Given the description of an element on the screen output the (x, y) to click on. 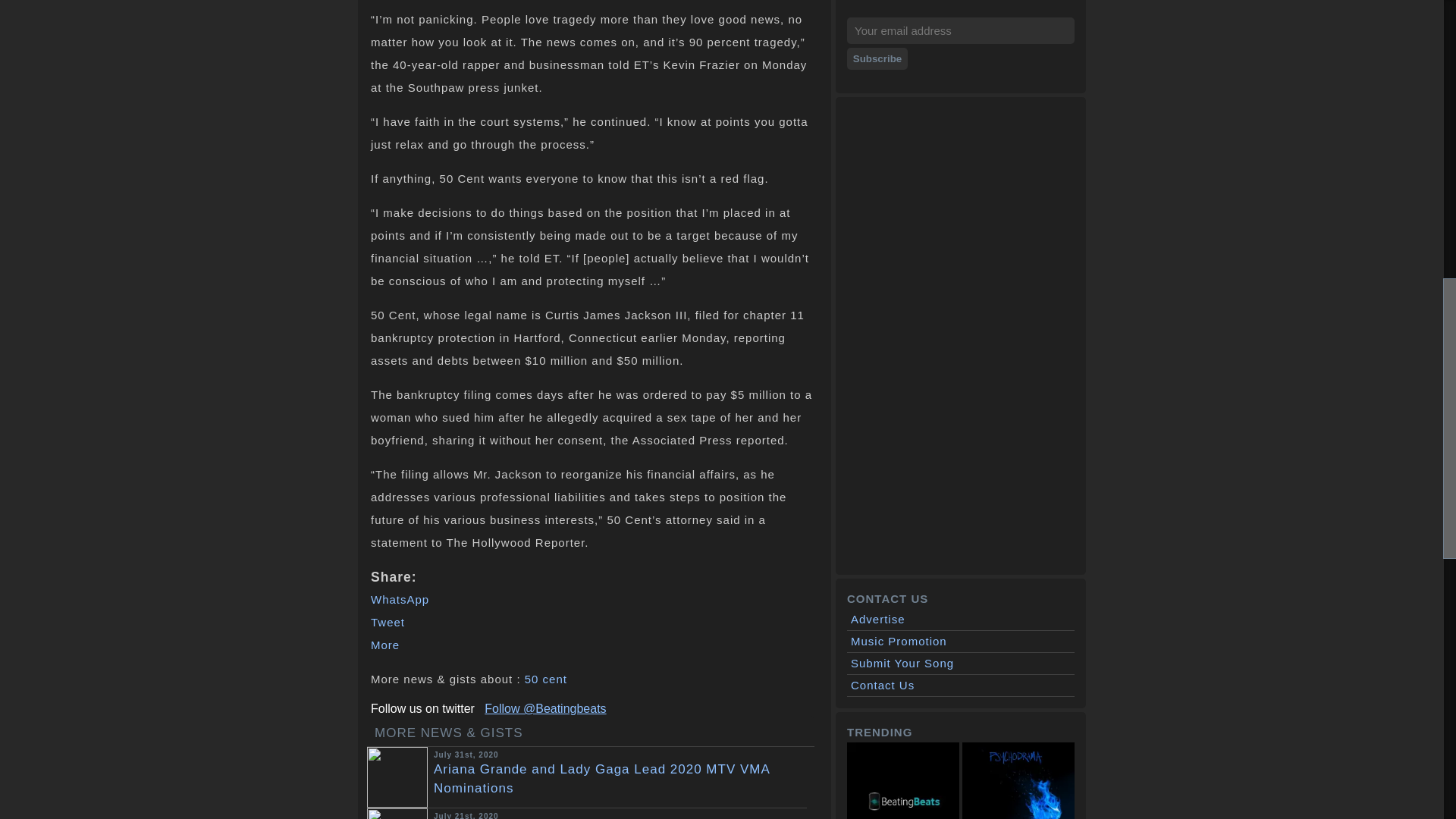
50 cent (545, 678)
WhatsApp (400, 599)
Ariana Grande and Lady Gaga Lead 2020 MTV VMA Nominations (622, 778)
Ariana Grande and Lady Gaga Lead 2020 MTV VMA Nominations (622, 778)
Subscribe (877, 58)
Click to share on WhatsApp (400, 599)
Tweet (387, 621)
More (384, 644)
